Given the description of an element on the screen output the (x, y) to click on. 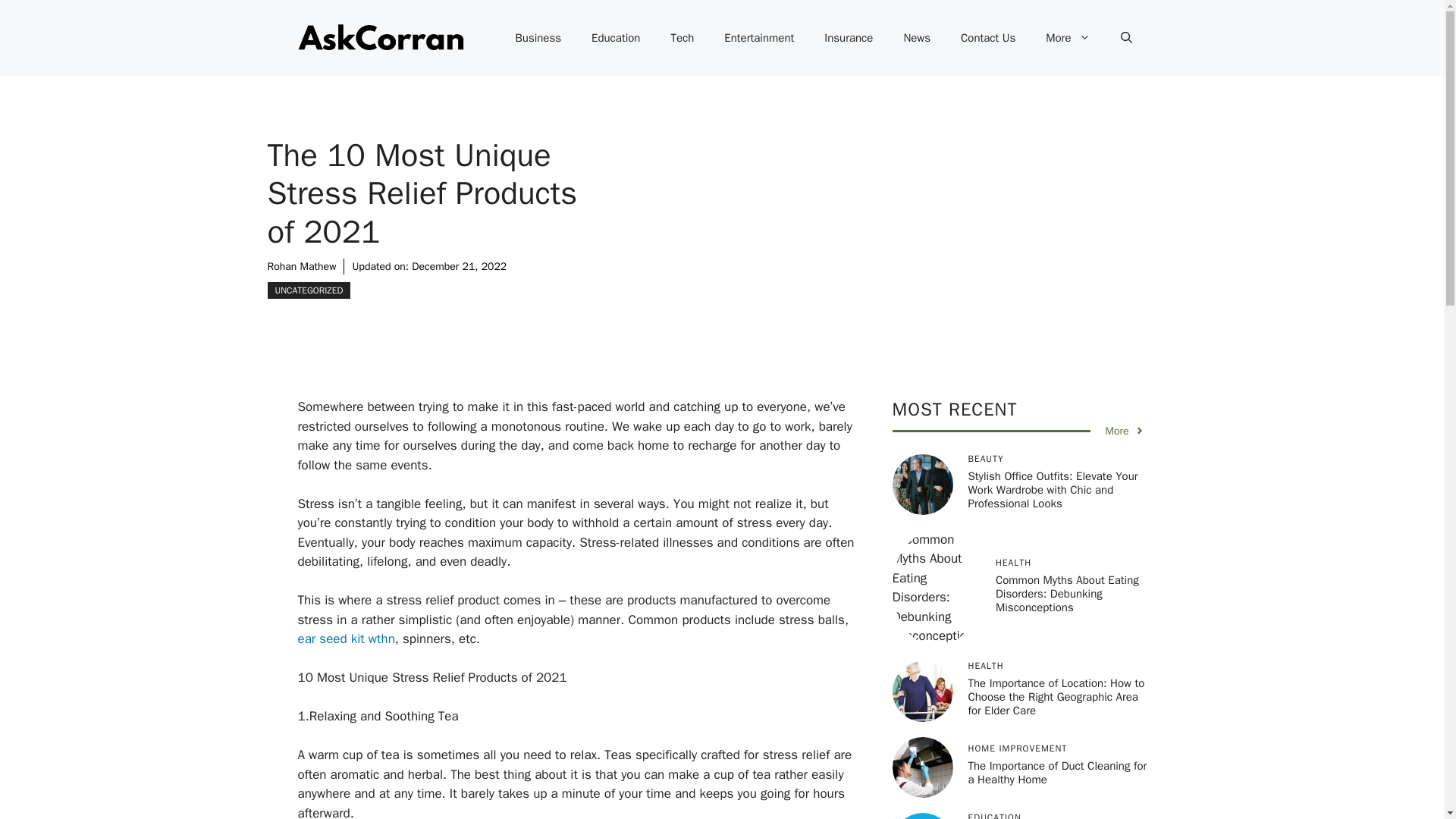
Rohan Mathew (301, 266)
News (916, 37)
The Importance of Duct Cleaning for a Healthy Home (1057, 772)
Education (615, 37)
Entertainment (759, 37)
Contact Us (987, 37)
More (1124, 430)
More (1067, 37)
UNCATEGORIZED (308, 289)
Tech (682, 37)
